Given the description of an element on the screen output the (x, y) to click on. 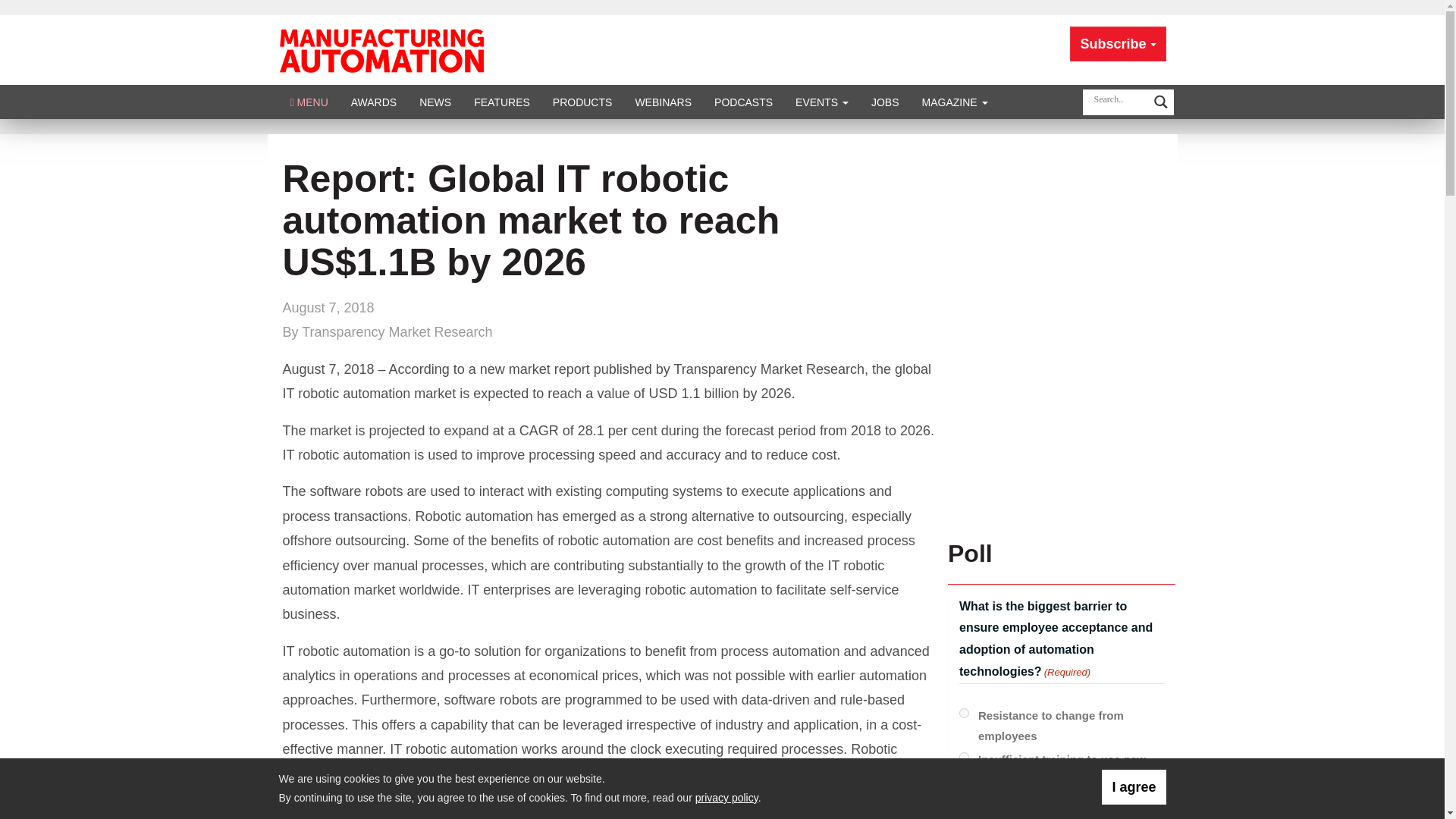
3rd party ad content (1060, 232)
gpoll1140ca106 (964, 757)
WEBINARS (663, 101)
MAGAZINE (954, 101)
PRODUCTS (582, 101)
NEWS (435, 101)
Subscribe (1118, 43)
MENU (309, 101)
Manufacturing AUTOMATION (381, 48)
3rd party ad content (1060, 429)
AWARDS (373, 101)
PODCASTS (743, 101)
JOBS (885, 101)
EVENTS (822, 101)
gpoll17fbe4044 (964, 800)
